Given the description of an element on the screen output the (x, y) to click on. 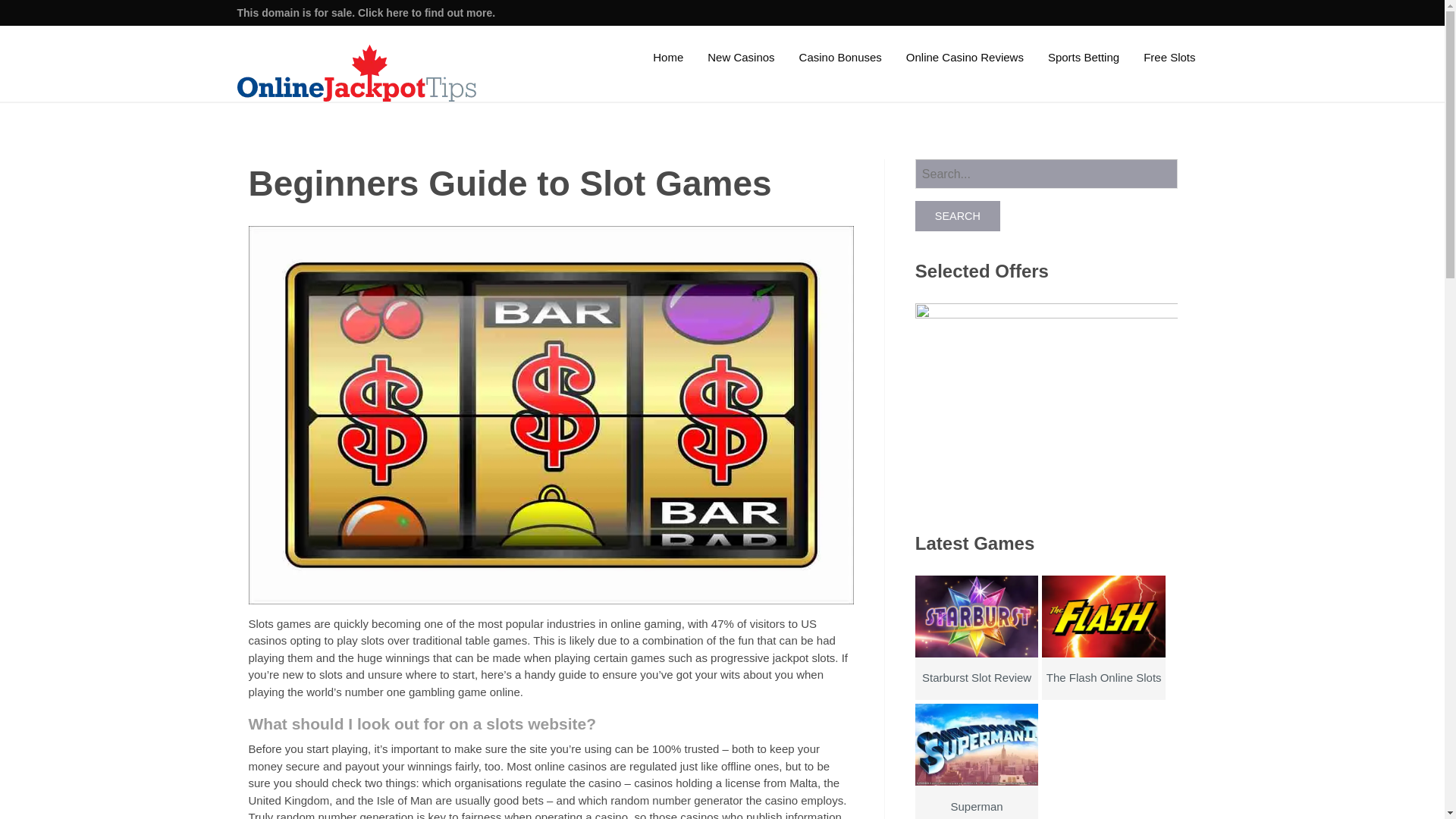
Search (957, 215)
The Flash Online Slots (1103, 654)
Superman (976, 778)
Online Casino Reviews (964, 56)
New Casinos (740, 56)
Starburst Slot Review (976, 654)
This domain is for sale. Click here to find out more. (365, 12)
Search (957, 215)
The Flash Online Slots (1103, 654)
Free Slots (1169, 56)
